Given the description of an element on the screen output the (x, y) to click on. 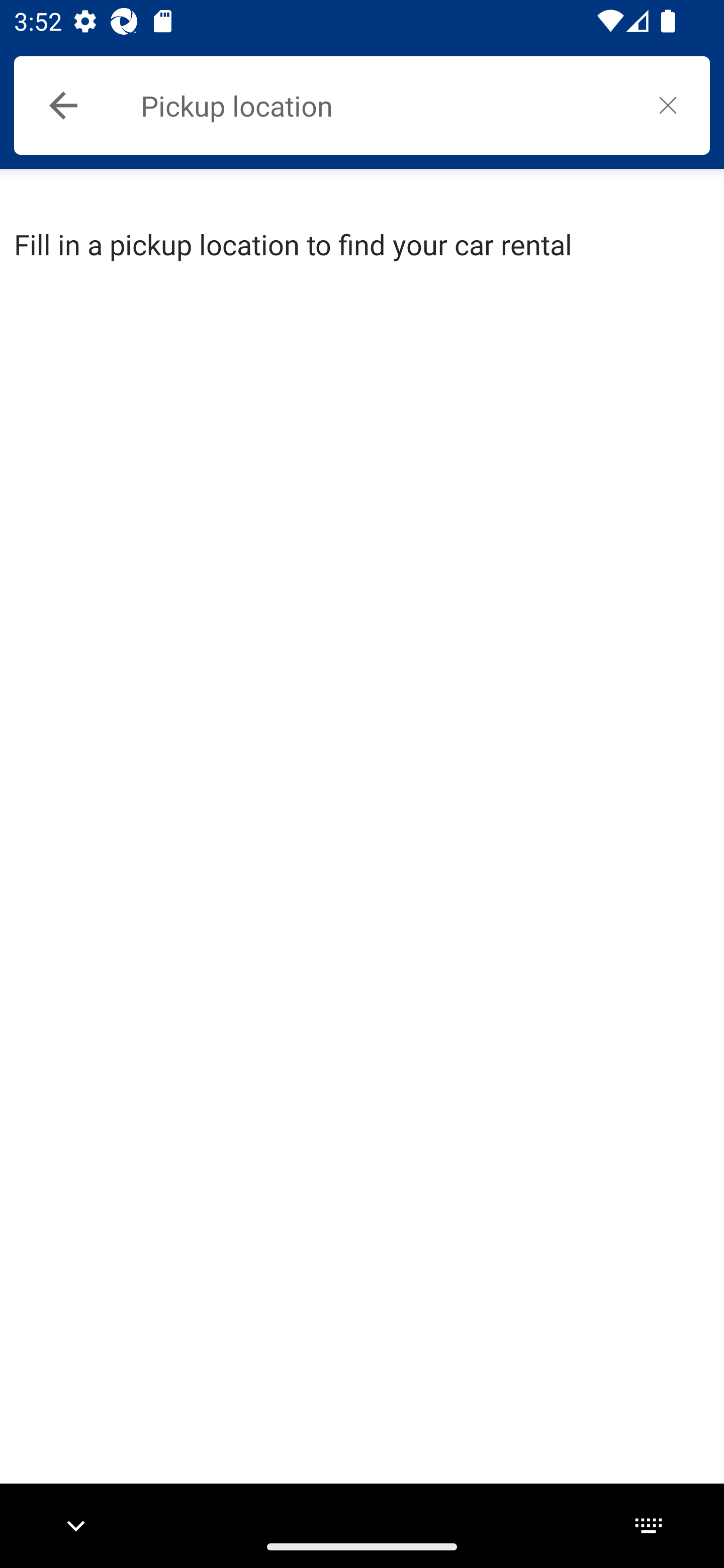
Navigate up (62, 105)
놕 (667, 104)
Pickup location (382, 105)
